Given the description of an element on the screen output the (x, y) to click on. 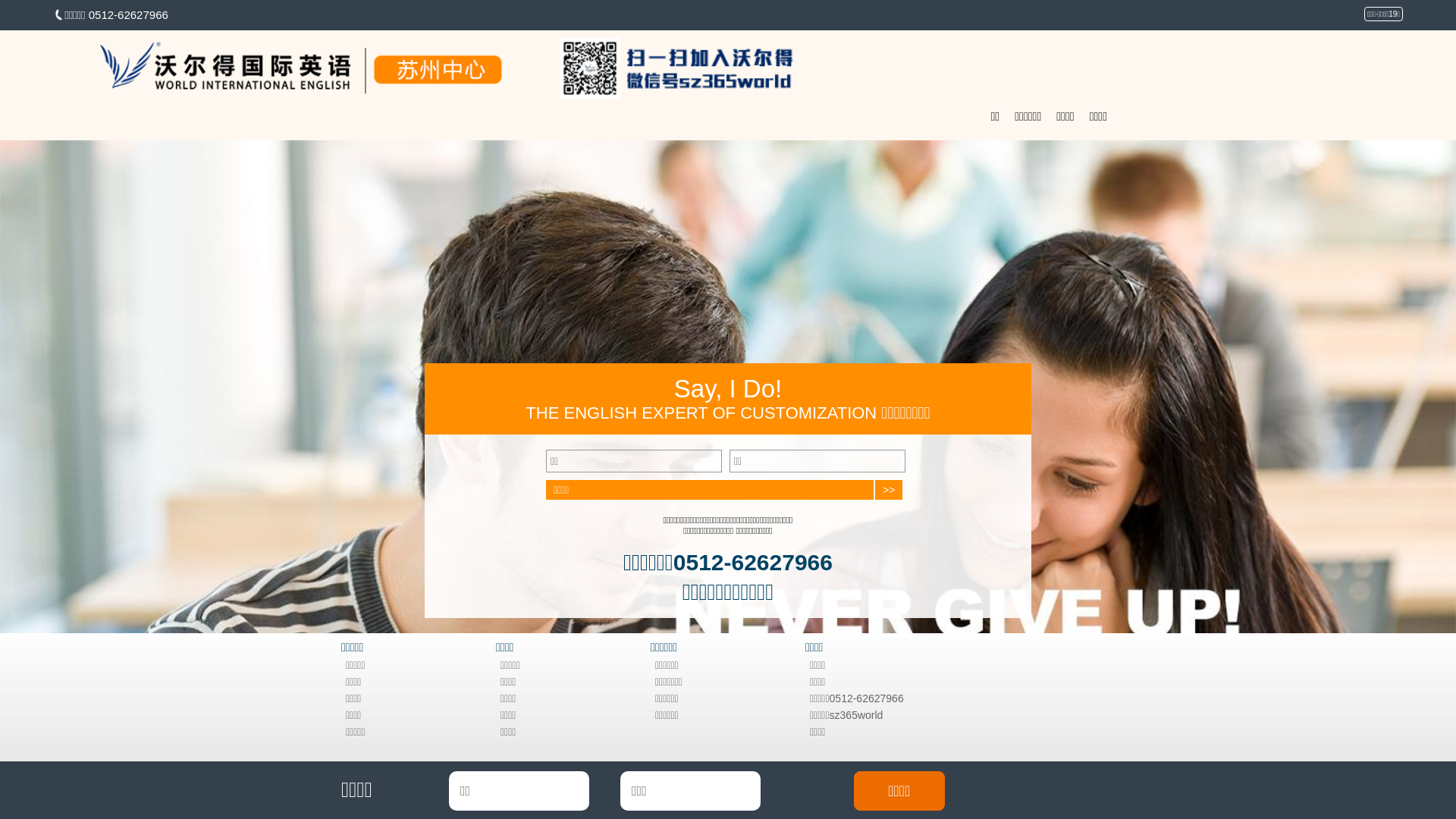
>> Element type: text (888, 489)
